Given the description of an element on the screen output the (x, y) to click on. 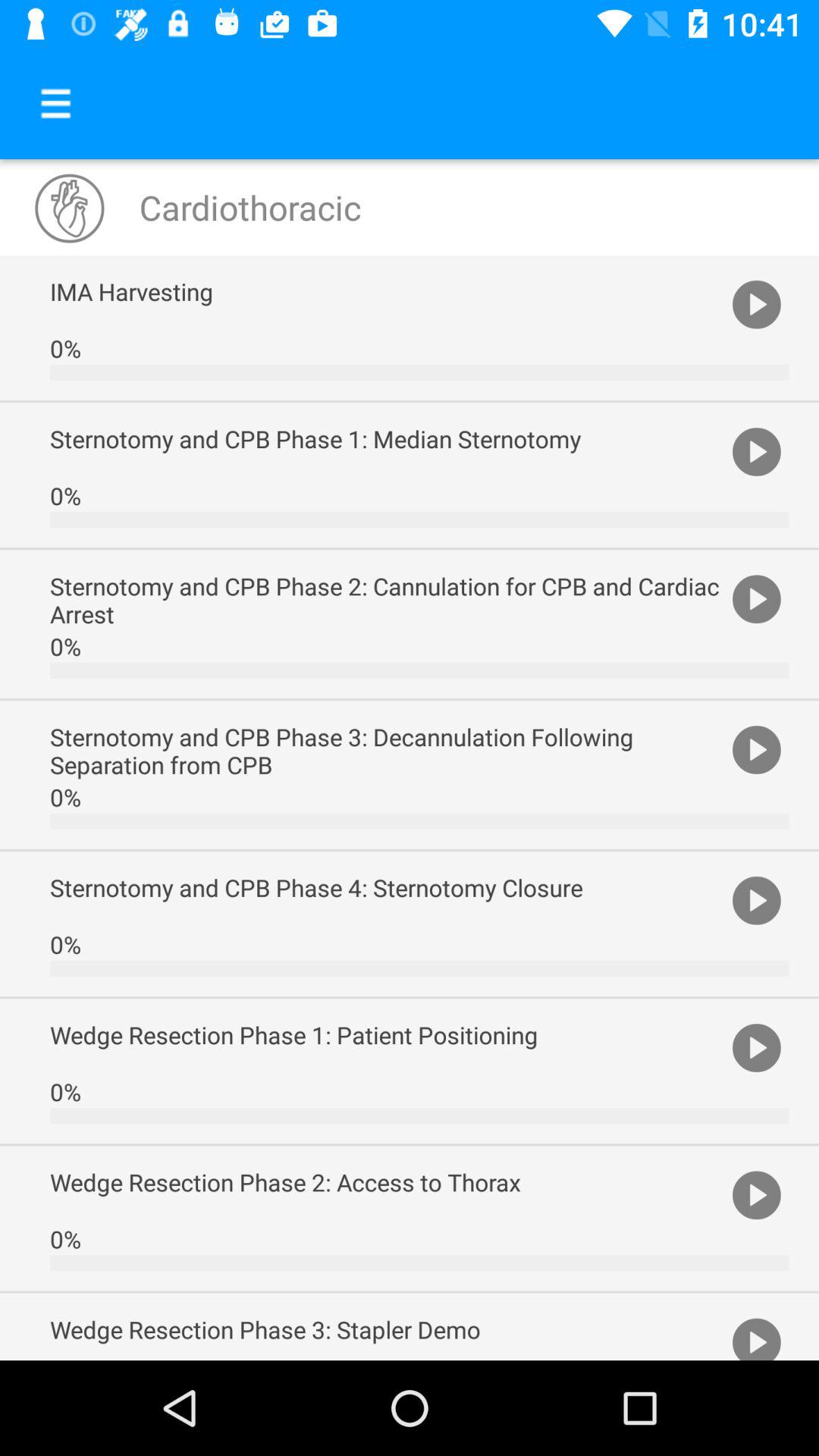
select the item above 0% item (387, 291)
